Given the description of an element on the screen output the (x, y) to click on. 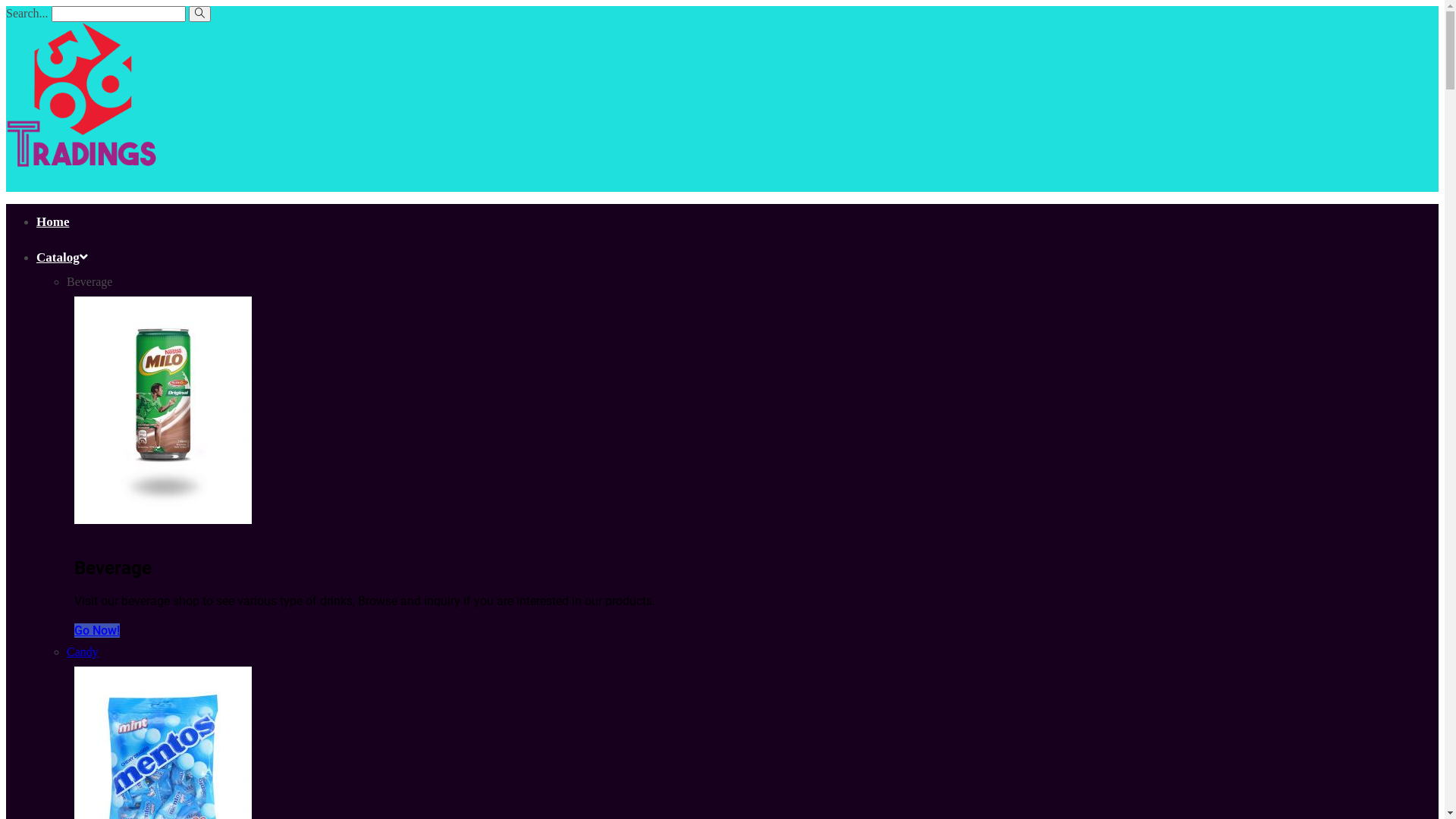
Go Now! Element type: text (96, 630)
Catalog Element type: text (61, 257)
Beverage Element type: text (89, 281)
Submit search Element type: text (199, 13)
Skip to content Element type: text (5, 5)
Candy Element type: text (82, 651)
Home Element type: text (52, 221)
